Given the description of an element on the screen output the (x, y) to click on. 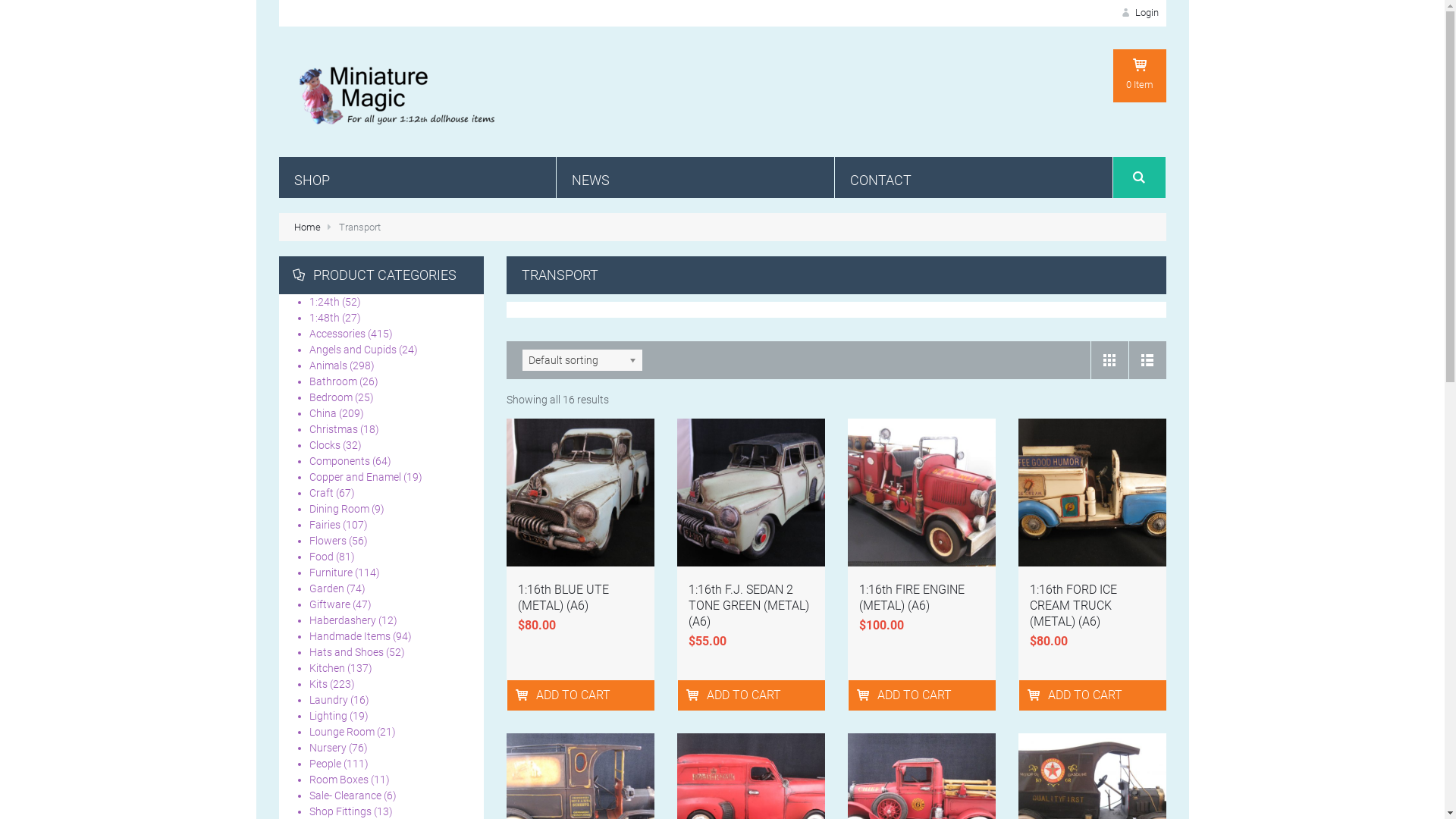
1:16th FORD ICE CREAM TRUCK (METAL) (A6) Element type: text (1073, 605)
Components Element type: text (339, 461)
Sale- Clearance Element type: text (345, 795)
Bedroom Element type: text (330, 397)
Login Element type: text (1137, 12)
ADD TO CART Element type: text (1035, 694)
Laundry Element type: text (328, 699)
Home Element type: text (307, 226)
Copper and Enamel Element type: text (355, 476)
Food Element type: text (321, 556)
NEWS Element type: text (695, 176)
Furniture Element type: text (330, 572)
Christmas Element type: text (333, 429)
Dining Room Element type: text (339, 508)
China Element type: text (322, 413)
Nursery Element type: text (327, 747)
Angels and Cupids Element type: text (352, 349)
LOGIN Element type: text (1195, 238)
Garden Element type: text (326, 588)
Giftware Element type: text (329, 604)
Kitchen Element type: text (327, 668)
Lounge Room Element type: text (341, 731)
Kits Element type: text (318, 683)
Animals Element type: text (328, 365)
Haberdashery Element type: text (342, 620)
1:16th BLUE UTE (METAL) (A6) Element type: text (562, 597)
CONTACT Element type: text (973, 176)
1:16th FIRE ENGINE (METAL) (A6) Element type: text (910, 597)
ADD TO CART Element type: text (522, 694)
Flowers Element type: text (327, 540)
Accessories Element type: text (337, 333)
Clocks Element type: text (324, 445)
Craft Element type: text (321, 492)
Bathroom Element type: text (333, 381)
Handmade Items Element type: text (349, 636)
Fairies Element type: text (324, 524)
0 Item Element type: text (1139, 75)
1:48th Element type: text (324, 317)
1:16th F.J. SEDAN 2 TONE GREEN (METAL) (A6) Element type: text (748, 605)
ADD TO CART Element type: text (863, 694)
Hats and Shoes Element type: text (346, 652)
Shop Fittings Element type: text (340, 811)
Room Boxes Element type: text (338, 779)
1:24th Element type: text (324, 301)
Default sorting Element type: text (582, 359)
People Element type: text (325, 763)
ADD TO CART Element type: text (694, 694)
Lighting Element type: text (328, 715)
SHOP Element type: text (417, 176)
